Given the description of an element on the screen output the (x, y) to click on. 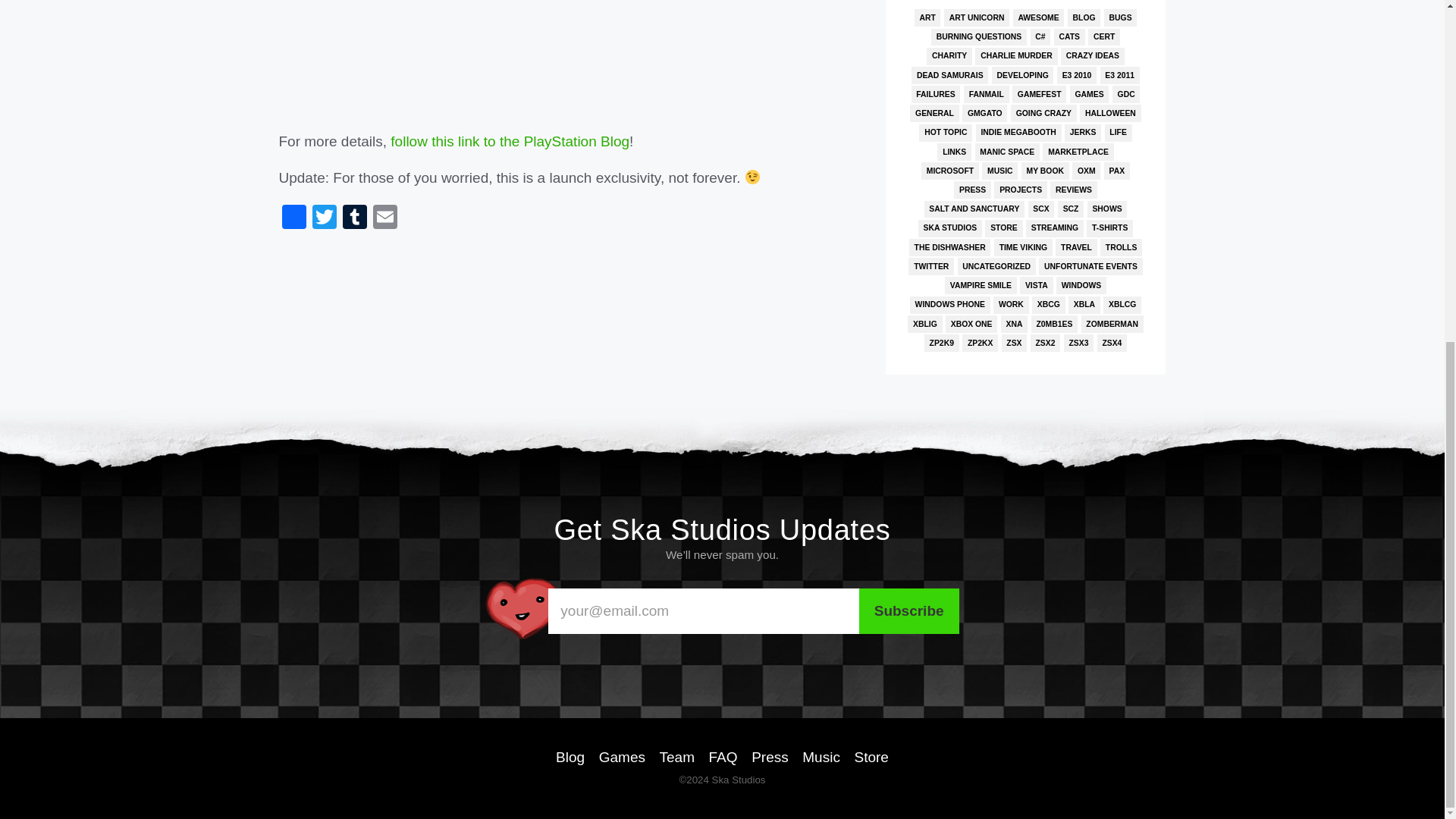
Twitter (323, 218)
BUGS (1120, 17)
E3 2010 (1076, 75)
CHARLIE MURDER (1016, 56)
GAMEFEST (1038, 94)
FAILURES (935, 94)
GAMES (1089, 94)
BLOG (1083, 17)
FANMAIL (986, 94)
ART (927, 17)
